Given the description of an element on the screen output the (x, y) to click on. 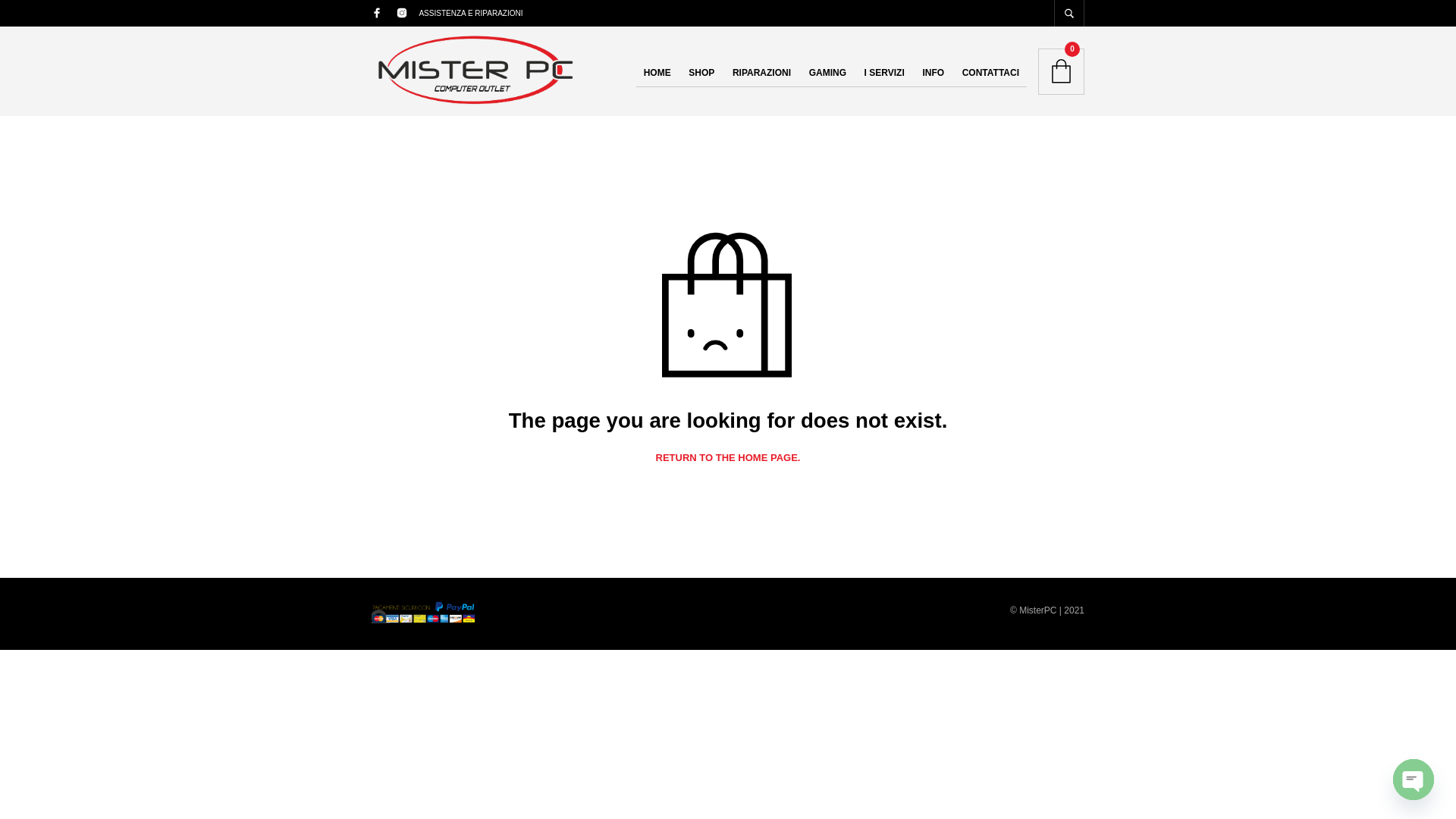
INFO (933, 72)
GAMING (827, 72)
I SERVIZI (884, 72)
RIPARAZIONI (761, 72)
SHOP (701, 72)
0 (1061, 71)
HOME (657, 72)
RETURN TO THE HOME PAGE. (727, 458)
CONTATTACI (990, 72)
